Given the description of an element on the screen output the (x, y) to click on. 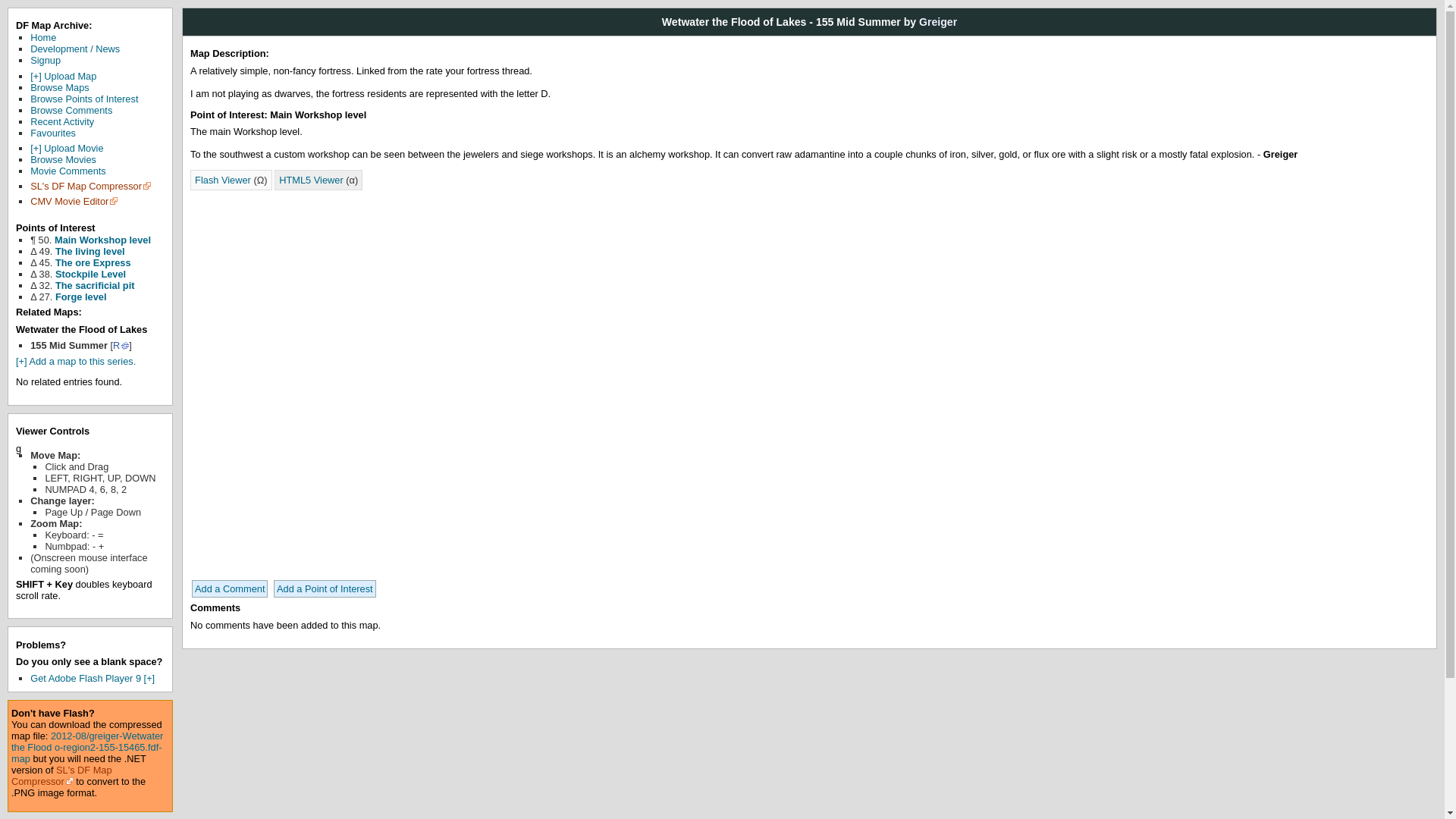
Latest map comments, search comments (71, 110)
Browse Points of Interest (84, 98)
Latest points of interest, search points of interest (84, 98)
Flash Viewer (222, 179)
SL's DF Map Compressor (90, 185)
Add a Comment (229, 588)
external link (90, 185)
The sacrificial pit (95, 285)
Recent Activity (62, 120)
Browse Maps (59, 87)
external link (73, 201)
Upload an animated video of your fortress! (66, 147)
refresh (121, 345)
Latest movie comments (68, 170)
